Given the description of an element on the screen output the (x, y) to click on. 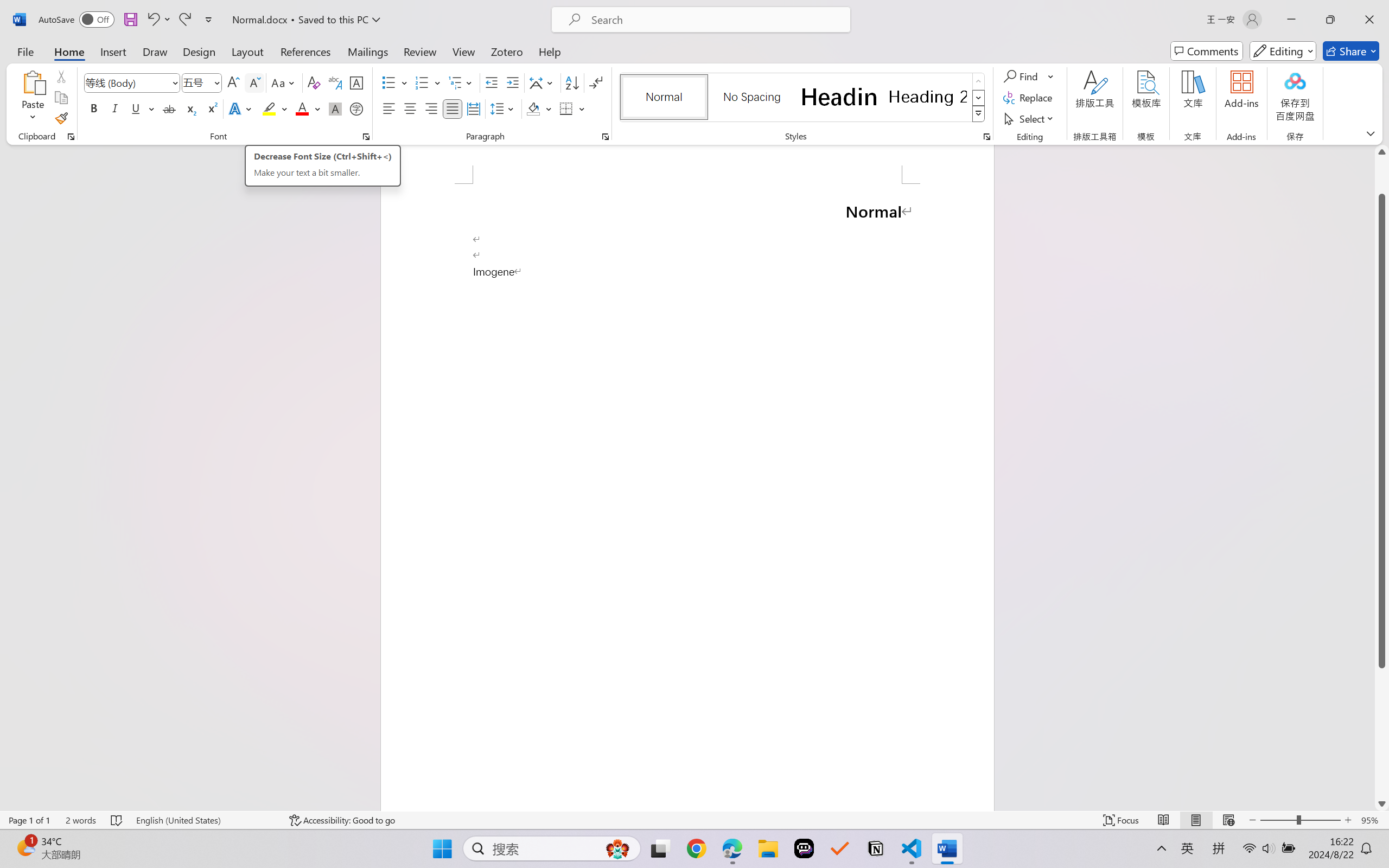
Class: NetUIScrollBar (1382, 477)
Cut (60, 75)
